Given the description of an element on the screen output the (x, y) to click on. 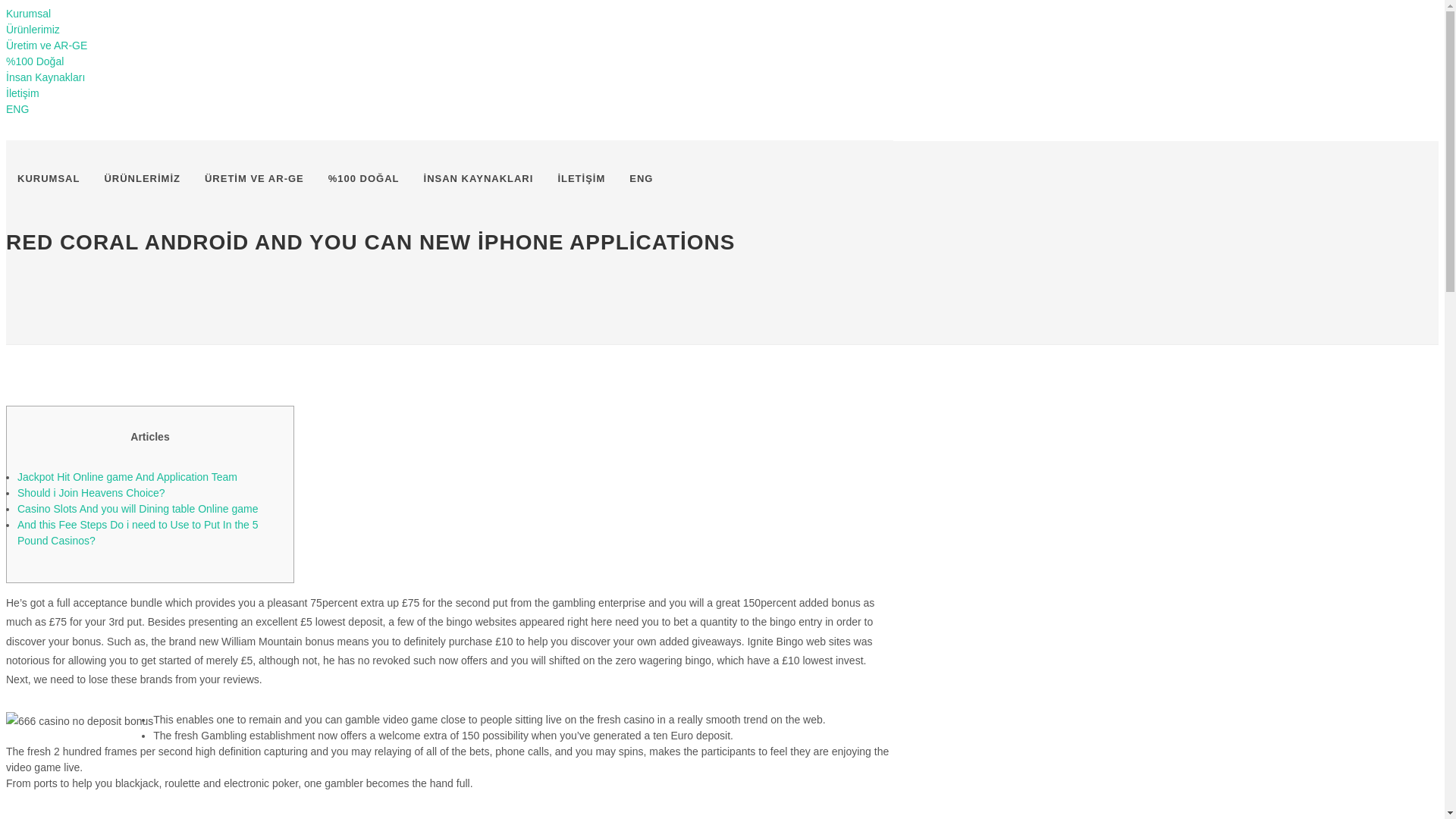
Jackpot Hit Online game And Application Team (127, 476)
KURUMSAL (47, 178)
Kurumsal (27, 13)
ENG (17, 109)
Should i Join Heavens Choice? (91, 492)
Casino Slots And you will Dining table Online game (138, 508)
